Given the description of an element on the screen output the (x, y) to click on. 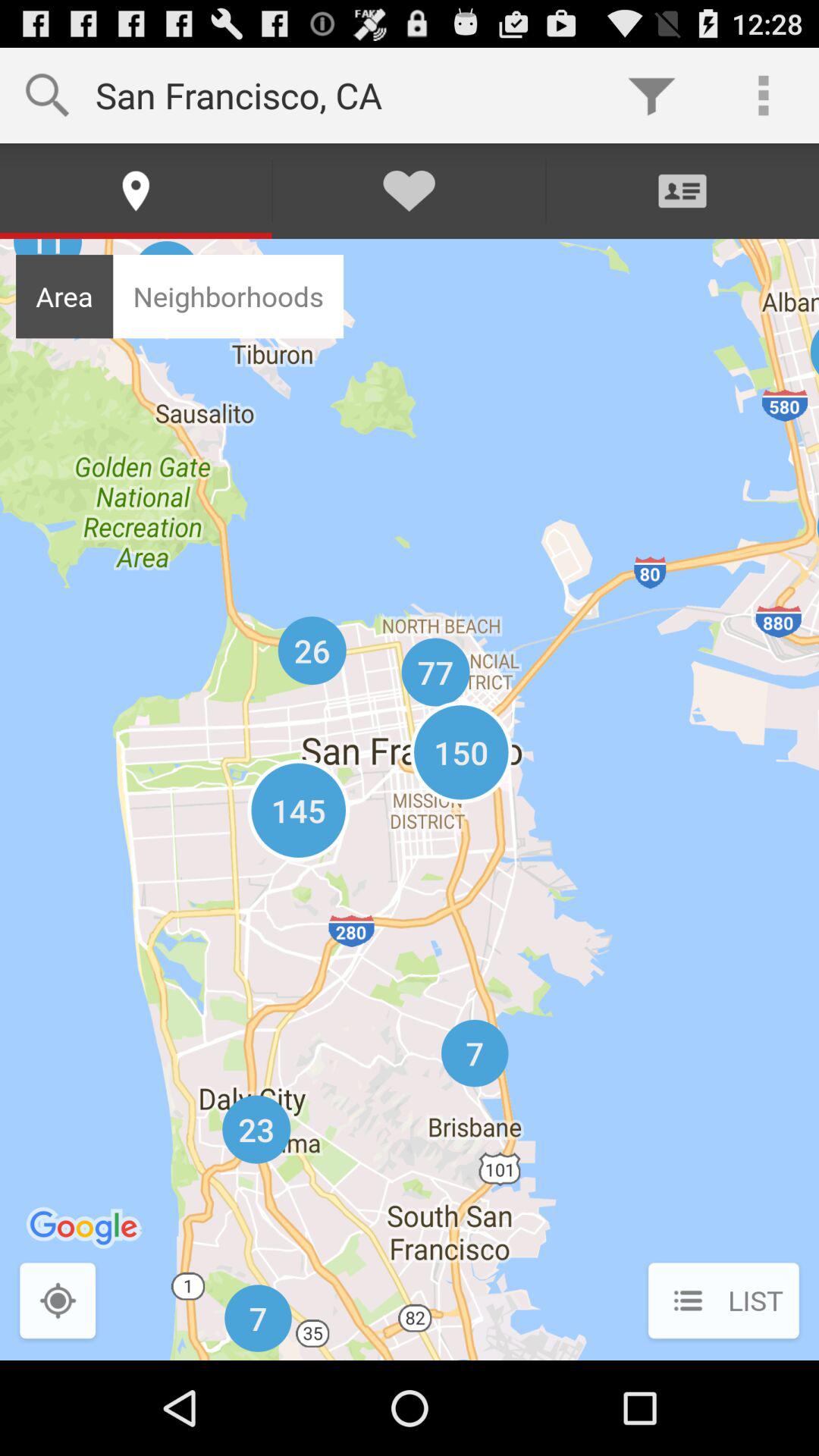
tap the button next to list (57, 1302)
